Given the description of an element on the screen output the (x, y) to click on. 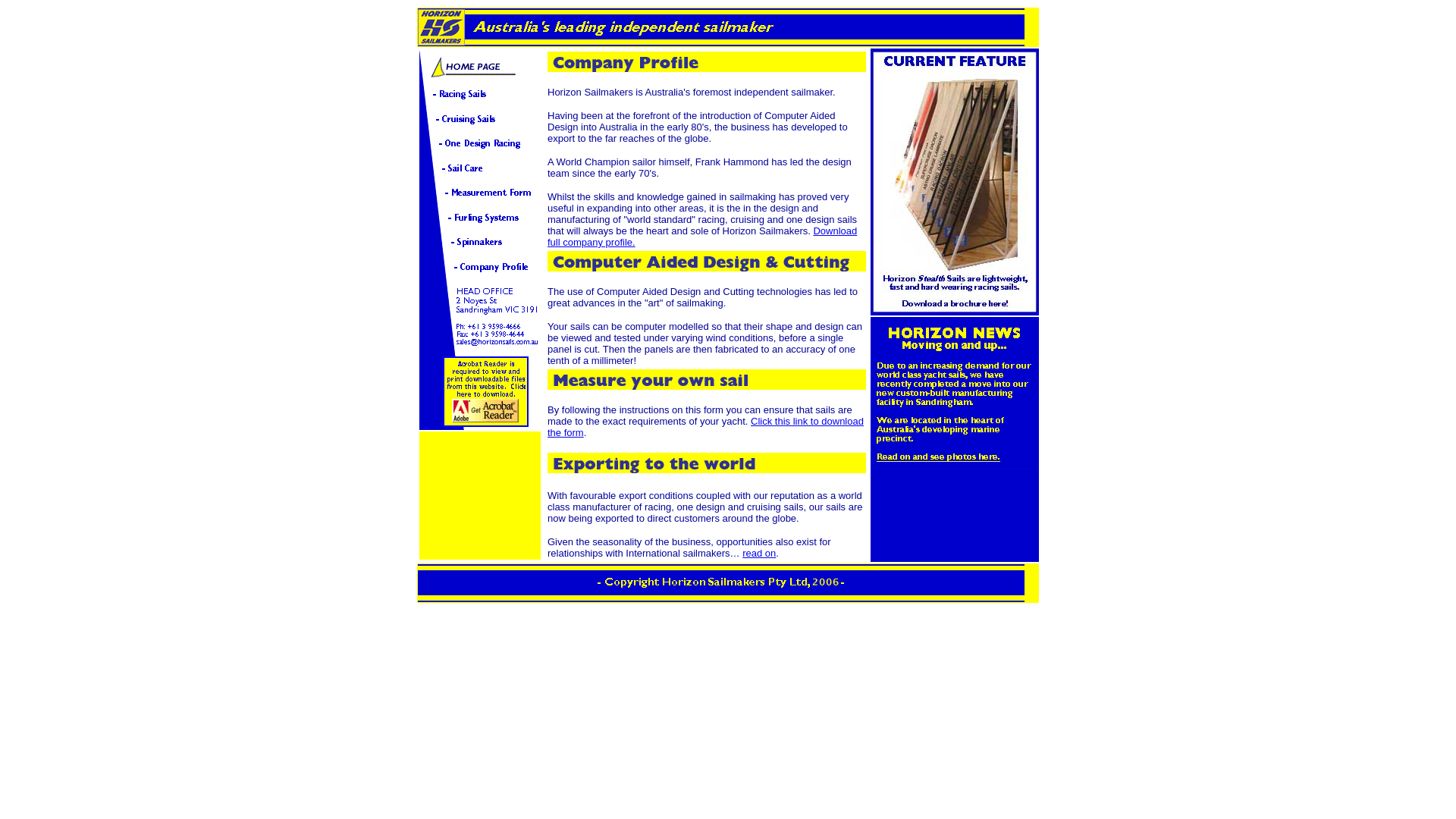
read on Element type: text (758, 552)
Click this link to download the form Element type: text (705, 426)
Download full company profile. Element type: text (701, 236)
